Given the description of an element on the screen output the (x, y) to click on. 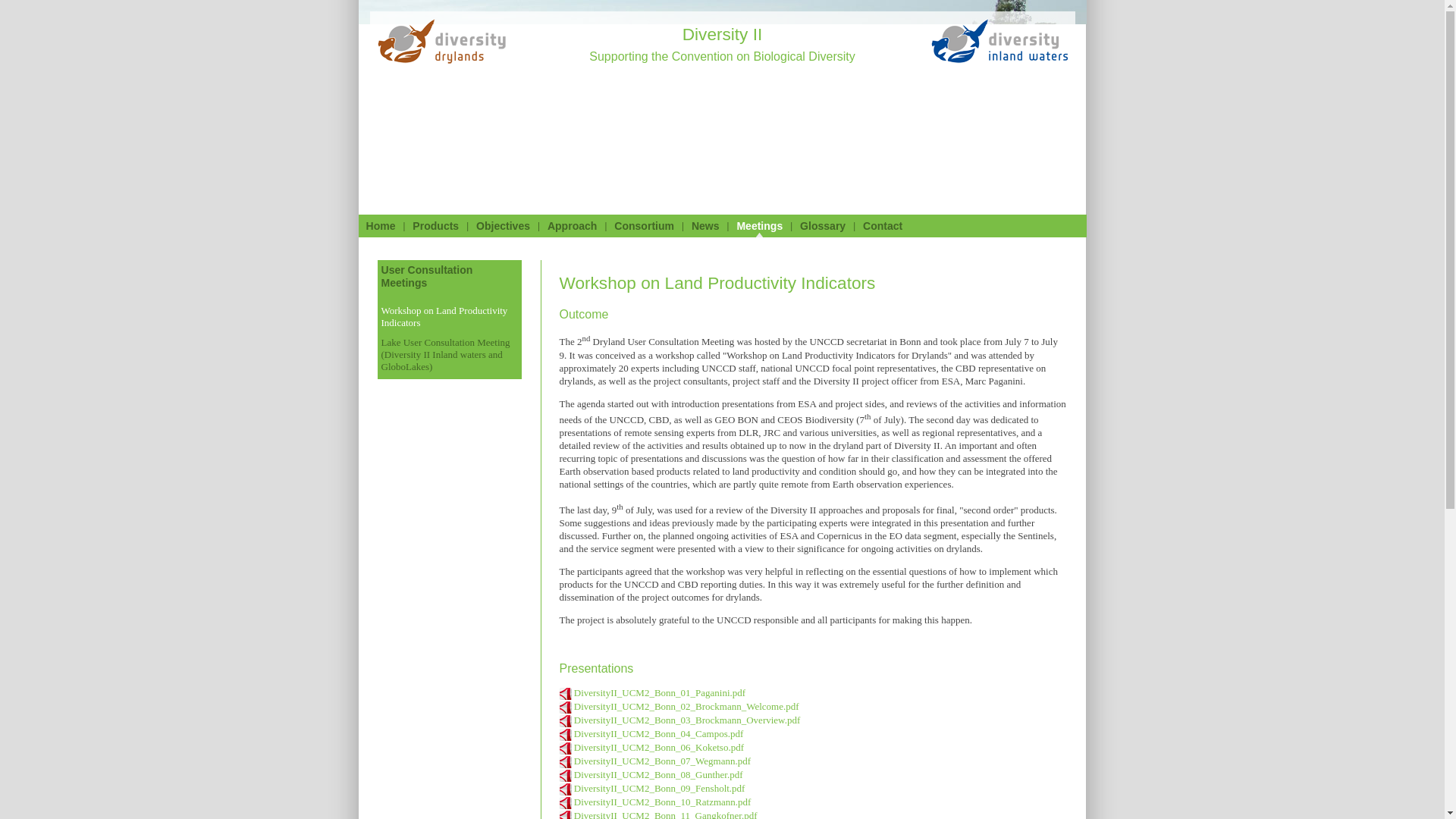
Home (379, 225)
Glossary (822, 225)
Products (435, 225)
User Consultation Meetings (425, 276)
Consortium (644, 225)
Contact (882, 225)
Workshop on Land Productivity Indicators (443, 316)
Approach (571, 225)
Meetings (759, 225)
News (705, 225)
